Given the description of an element on the screen output the (x, y) to click on. 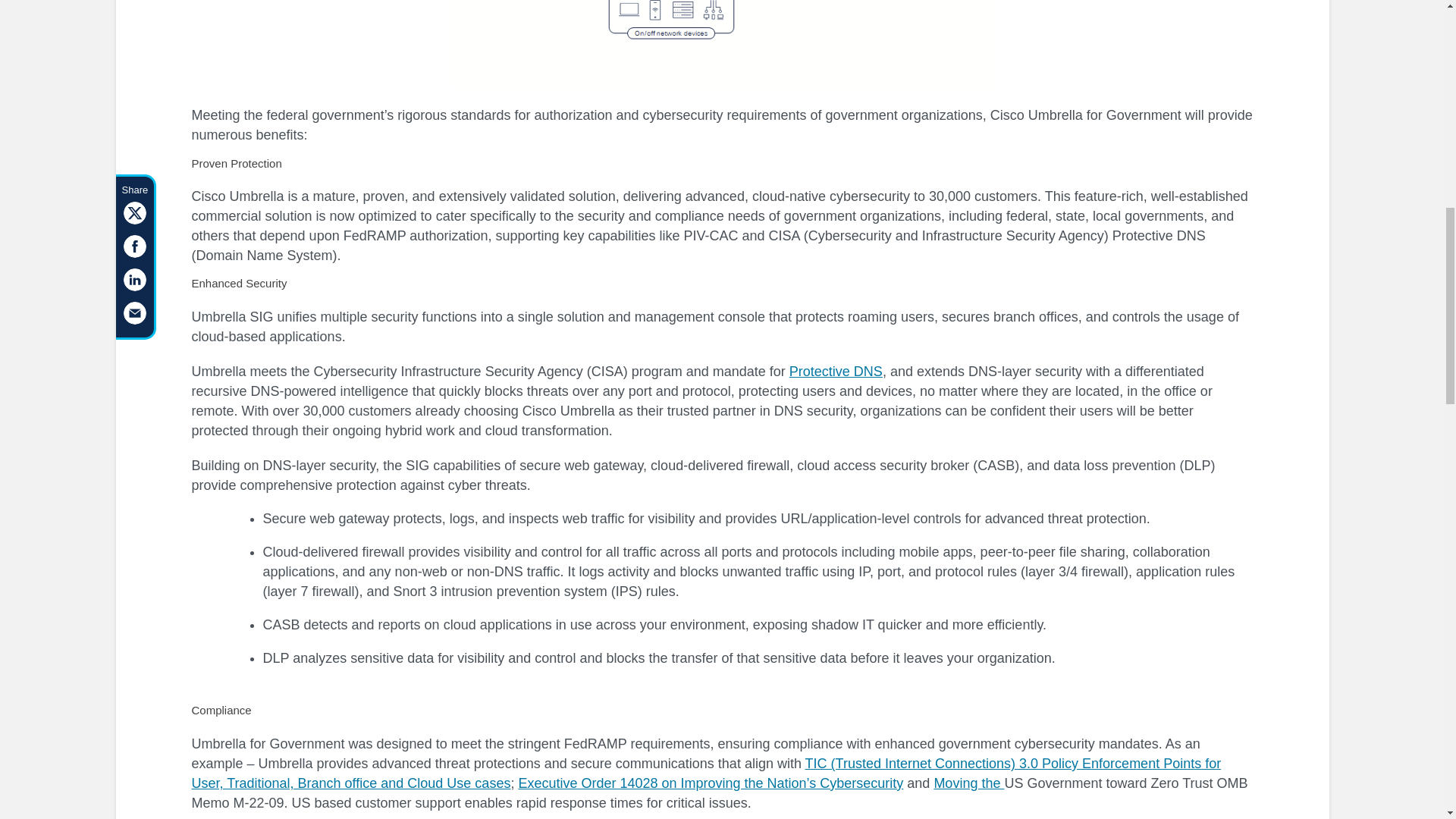
Moving the (968, 783)
Protective DNS (835, 371)
